Given the description of an element on the screen output the (x, y) to click on. 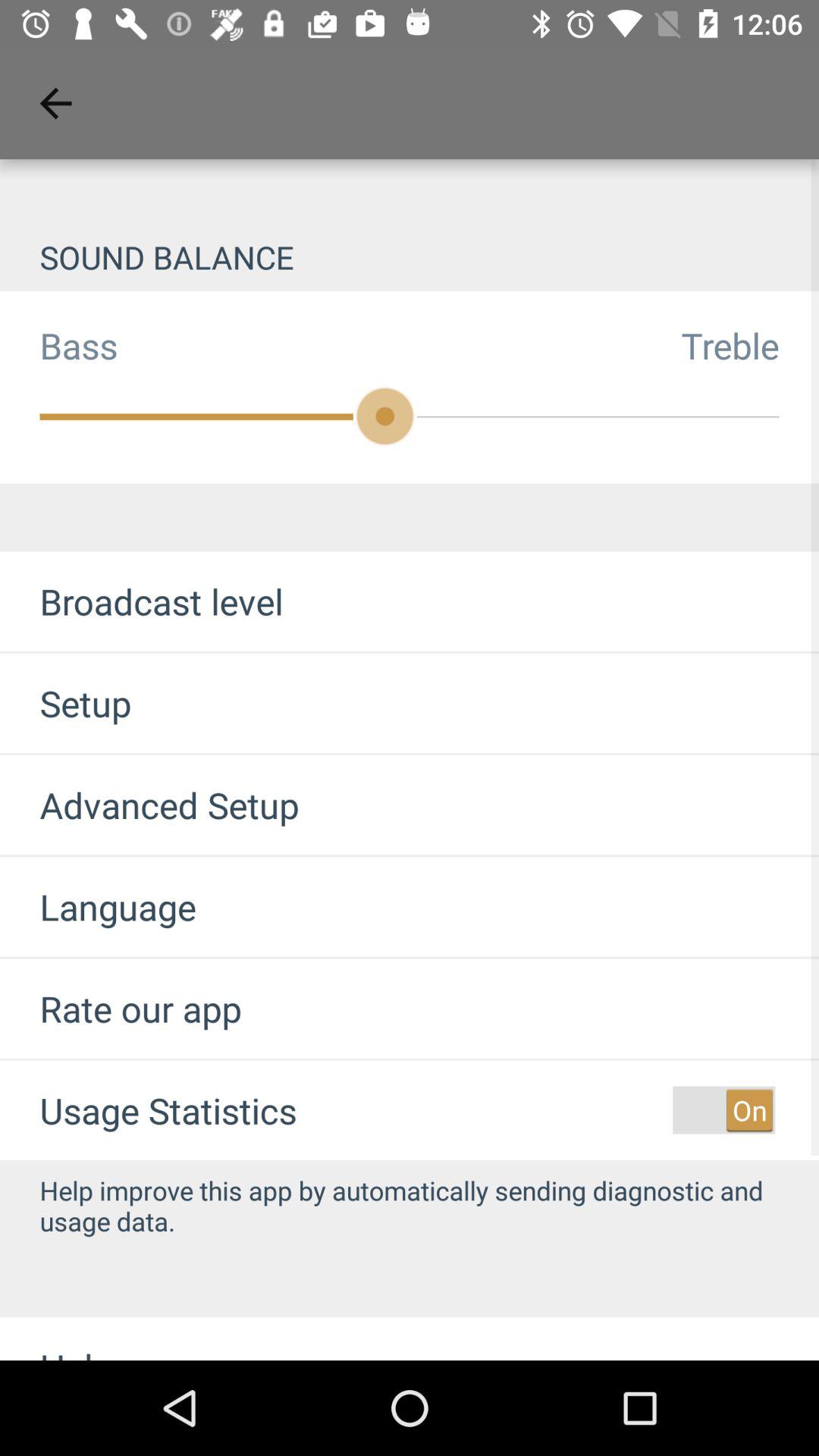
press the icon to the right of usage statistics (723, 1110)
